Given the description of an element on the screen output the (x, y) to click on. 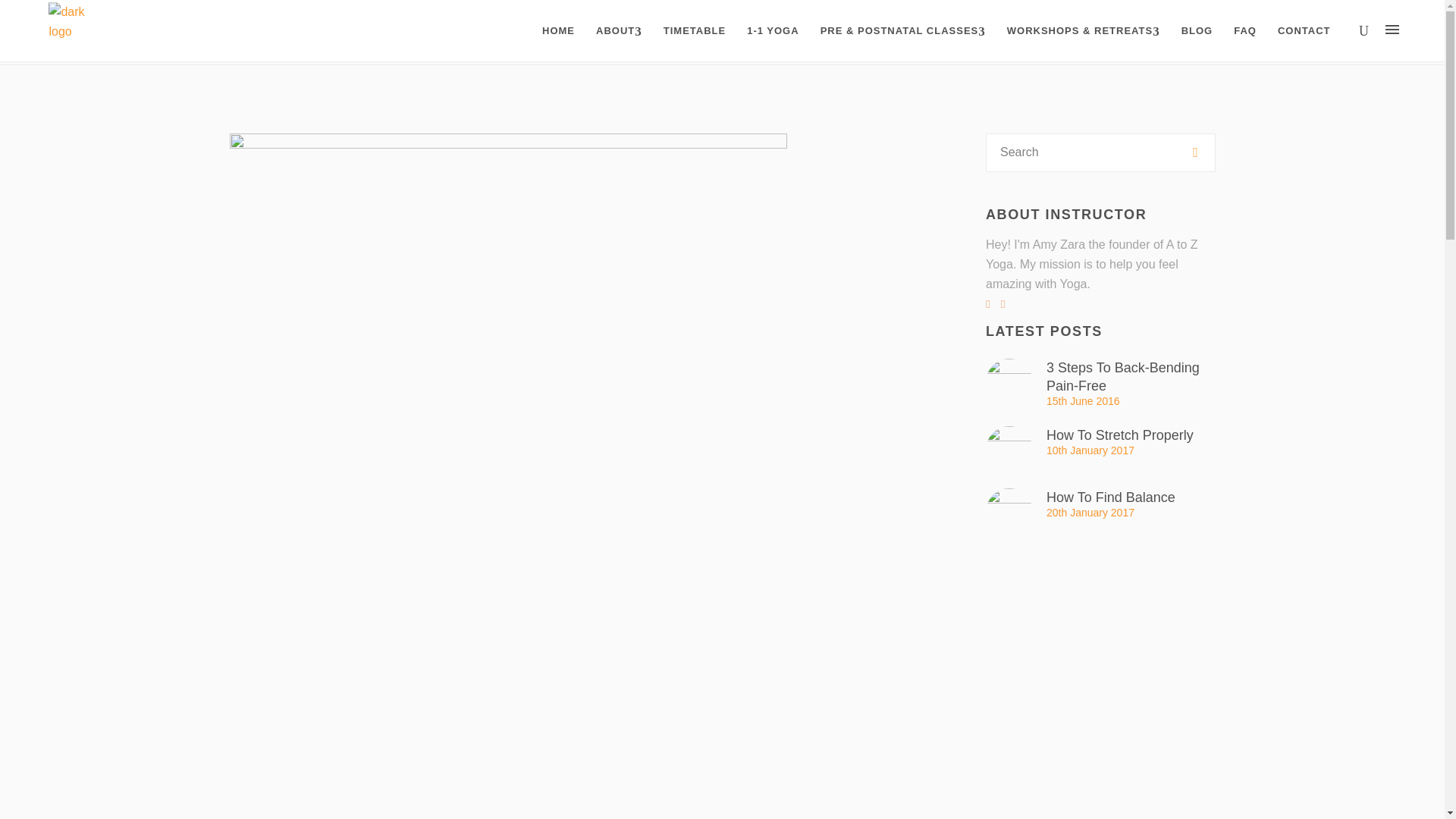
ABOUT (618, 30)
CONTACT (1303, 30)
1-1 YOGA (772, 30)
TIMETABLE (694, 30)
